Given the description of an element on the screen output the (x, y) to click on. 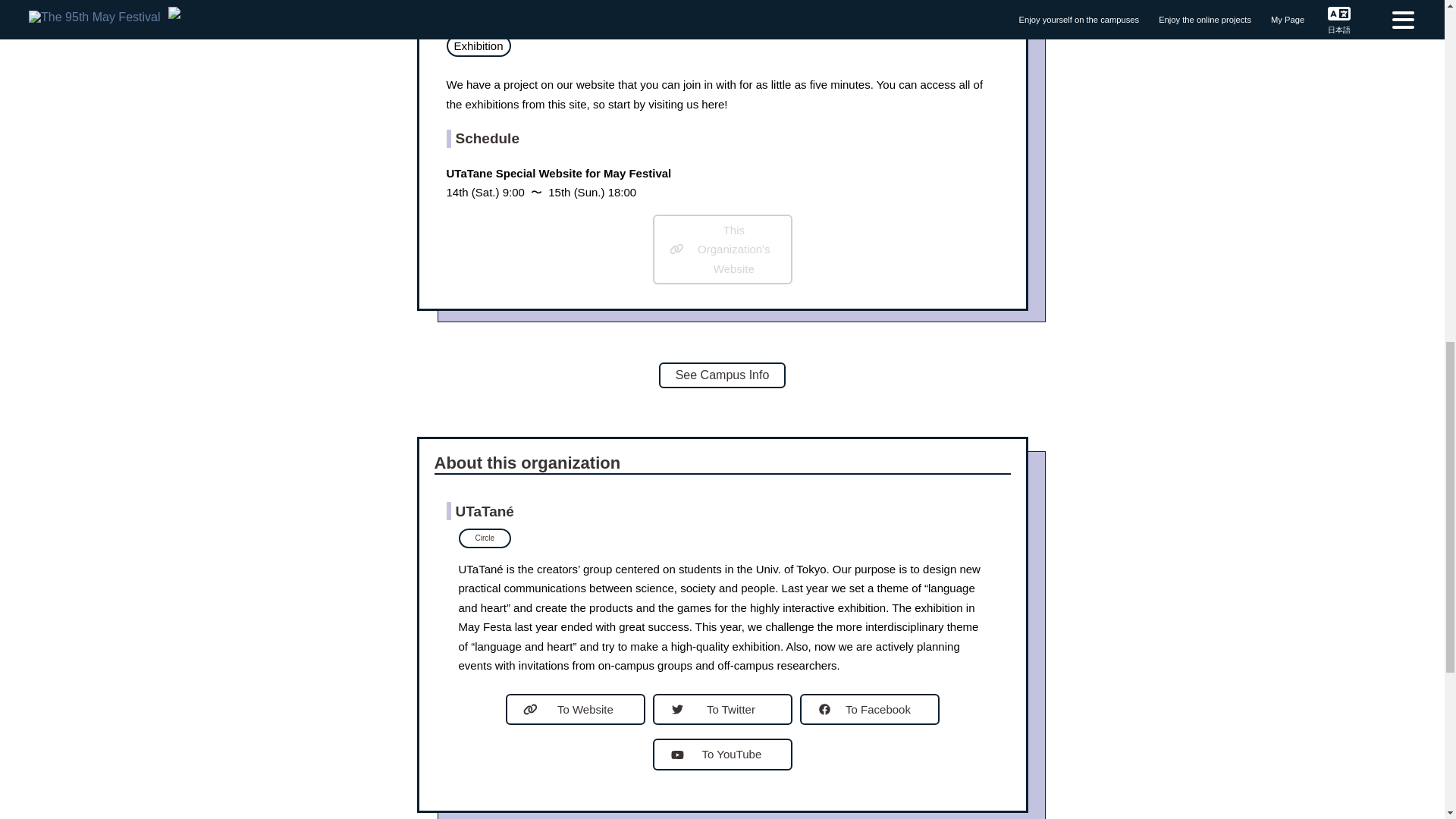
To Website (575, 709)
Circle (484, 537)
To Twitter (722, 709)
See Campus Info (722, 375)
To YouTube (722, 754)
To Facebook (869, 709)
